Given the description of an element on the screen output the (x, y) to click on. 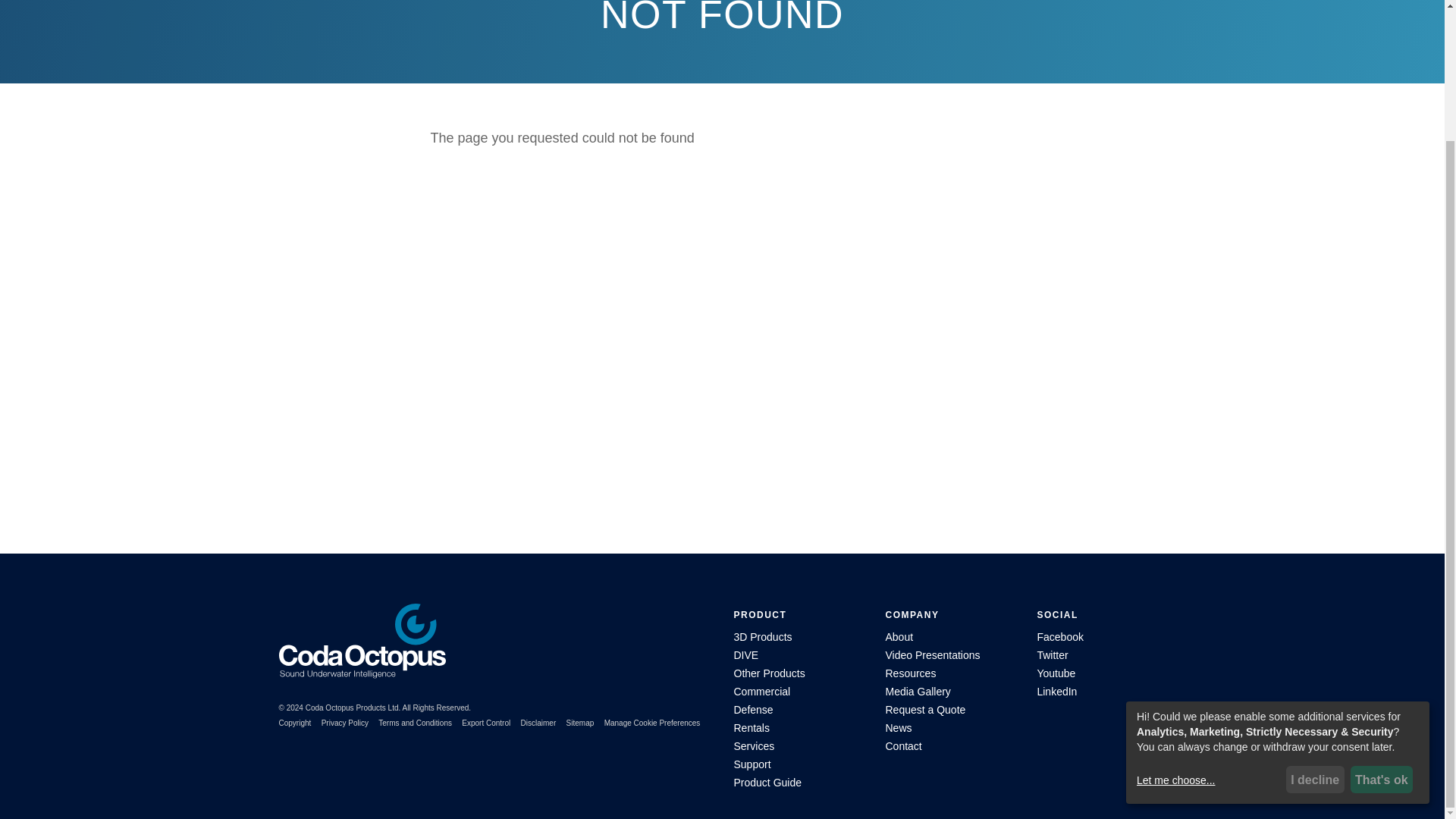
Let me choose... (1209, 620)
That's ok (1381, 619)
I decline (1314, 619)
